Given the description of an element on the screen output the (x, y) to click on. 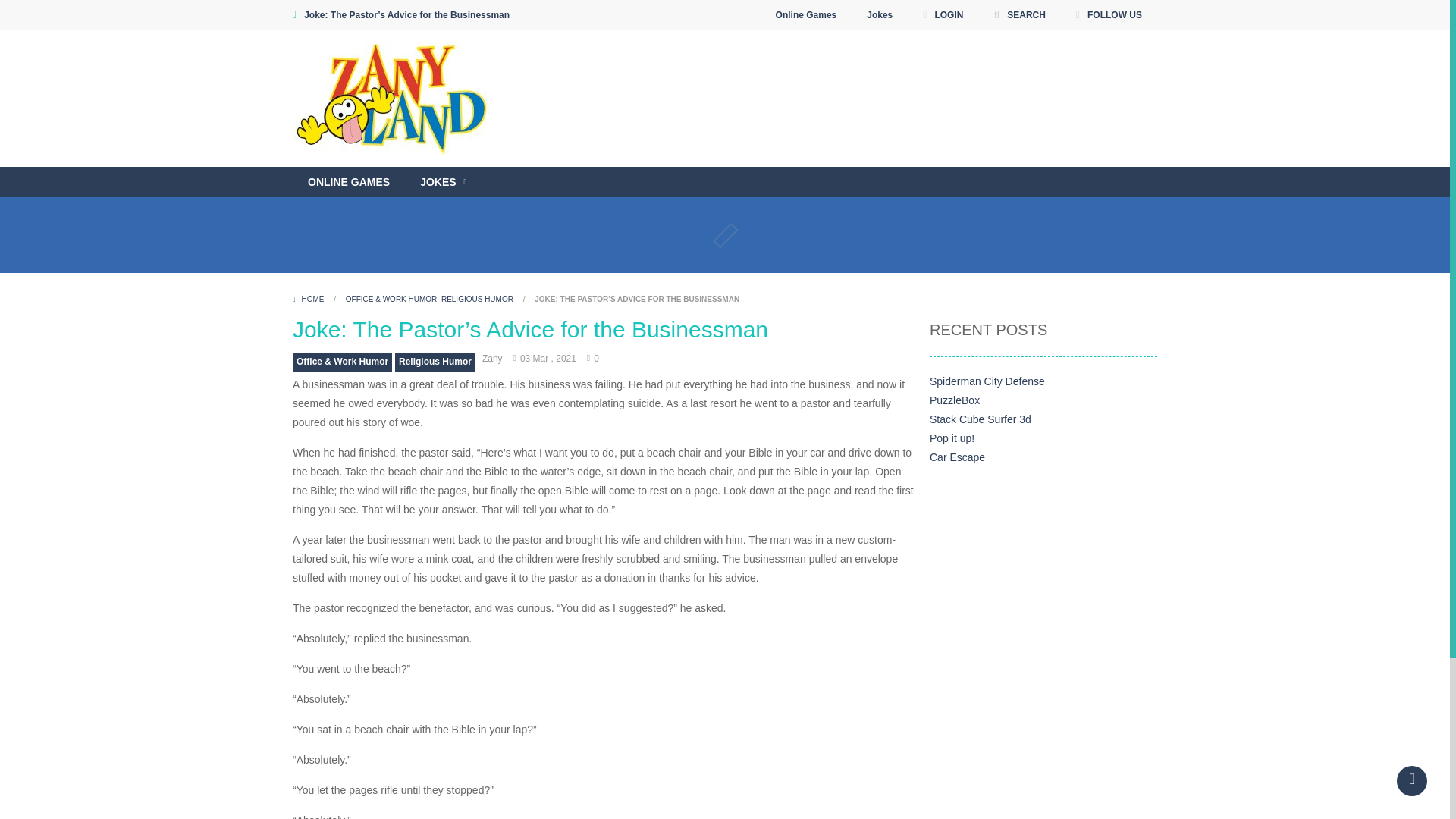
Play Free Games at ZanyLand (394, 98)
Jokes (880, 15)
SEARCH (1019, 15)
JOKES (442, 182)
Online Games (806, 15)
ONLINE GAMES (348, 182)
FOLLOW US (1108, 15)
Play Free Games at ZanyLand (394, 97)
LOGIN (942, 15)
YouTube video player (817, 160)
